Given the description of an element on the screen output the (x, y) to click on. 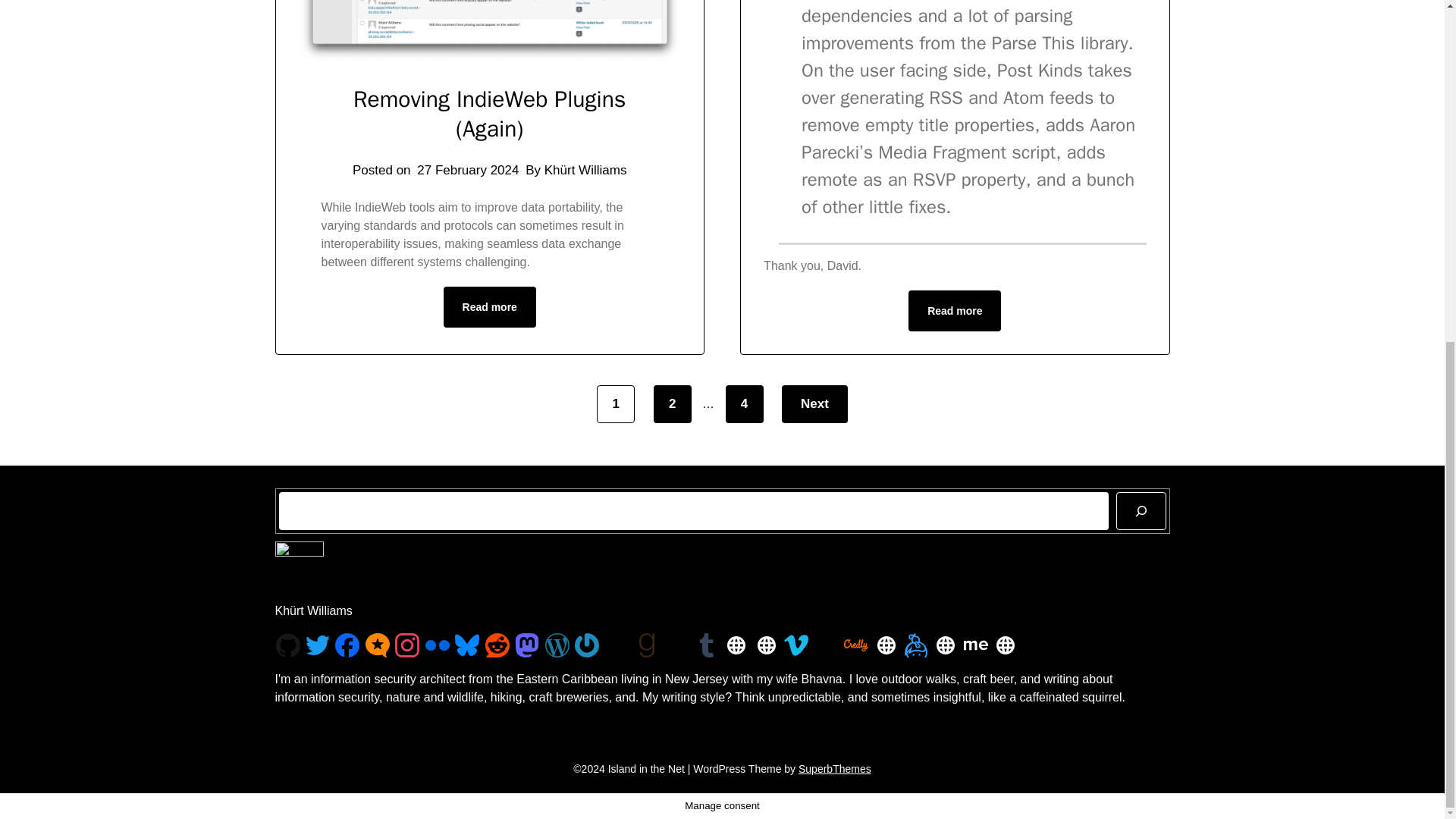
Reddit (496, 645)
Unsplash (616, 645)
Tumblr (706, 645)
GitHub (287, 645)
Micro.blog (377, 645)
Twitter (317, 645)
Read more (489, 306)
Mastodon (526, 645)
GitHub (287, 644)
Instagram (406, 645)
Vimeo (796, 645)
Flickr (437, 645)
4 (743, 403)
2 (672, 403)
VSCO (675, 645)
